Given the description of an element on the screen output the (x, y) to click on. 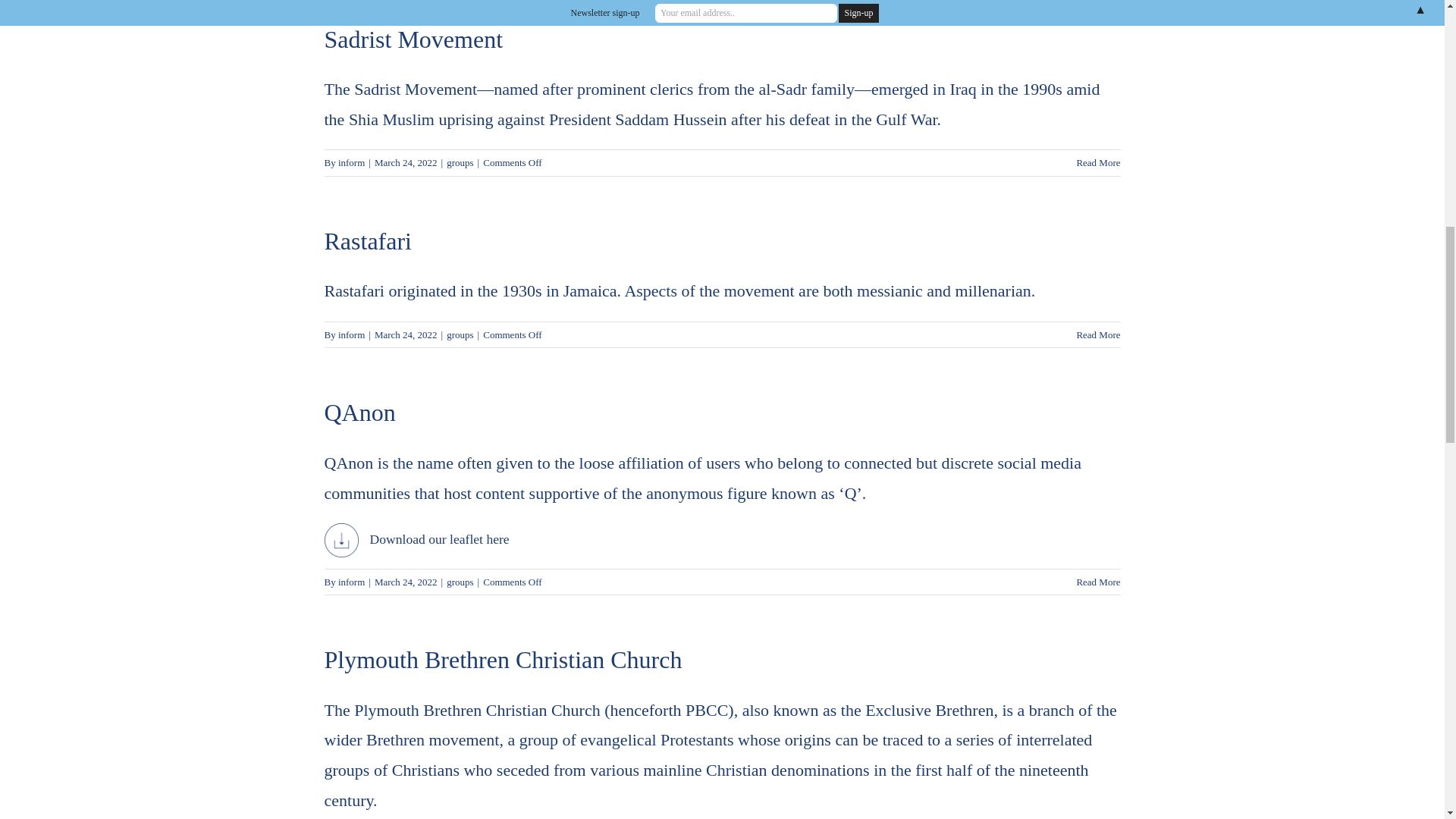
Posts by inform (351, 162)
Posts by inform (351, 582)
Posts by inform (351, 334)
